Given the description of an element on the screen output the (x, y) to click on. 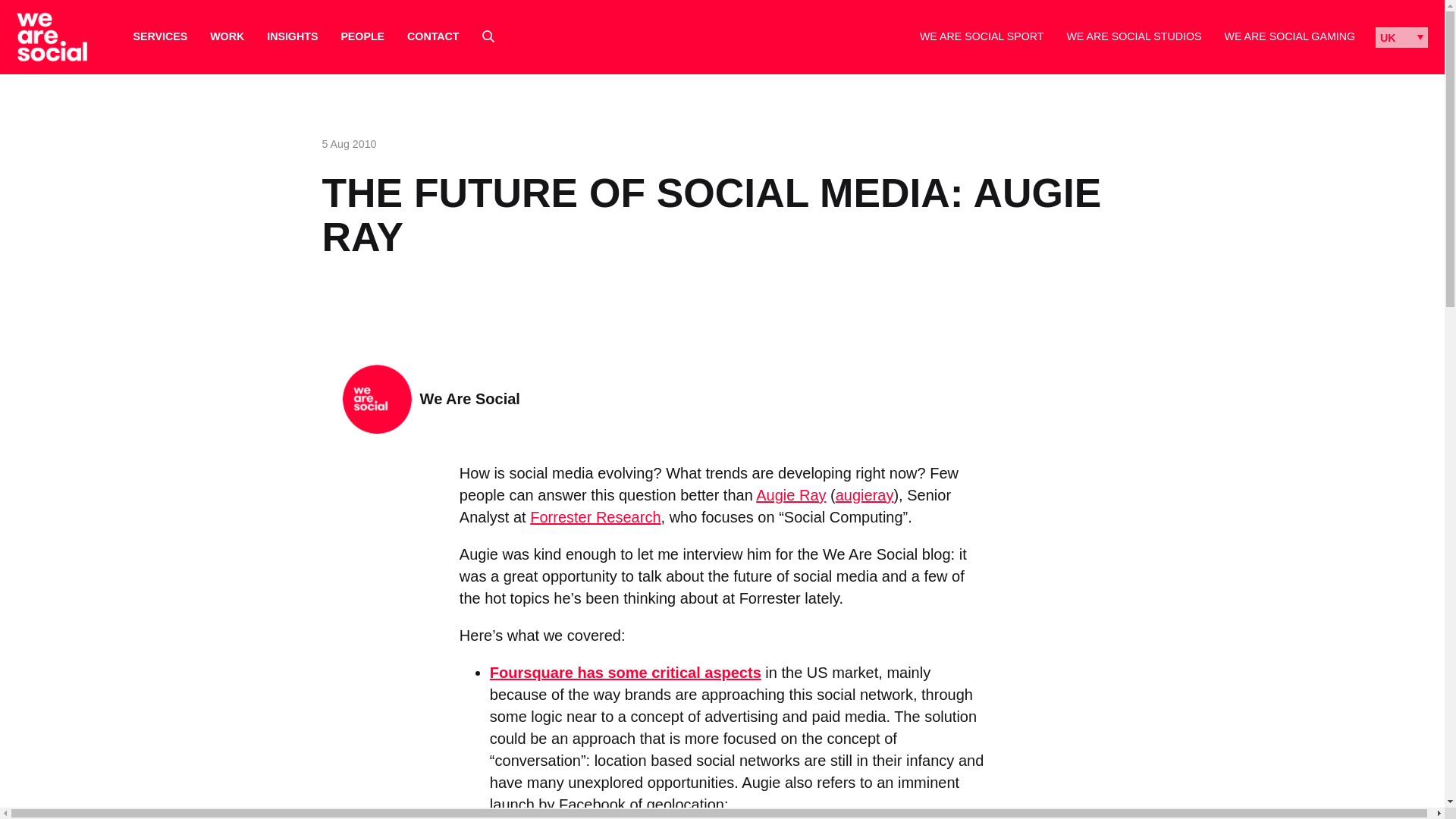
Forrester Research (595, 516)
WORK (226, 36)
INSIGHTS (291, 36)
Insights (291, 36)
Foursquare has some critical aspects (625, 672)
SERVICES (160, 36)
CONTACT (432, 36)
We Are Social Sport (981, 36)
Select to toggle search form (488, 36)
augieray (864, 494)
WE ARE SOCIAL GAMING (1289, 36)
Work (226, 36)
Augie Ray (790, 494)
PEOPLE (362, 36)
